Given the description of an element on the screen output the (x, y) to click on. 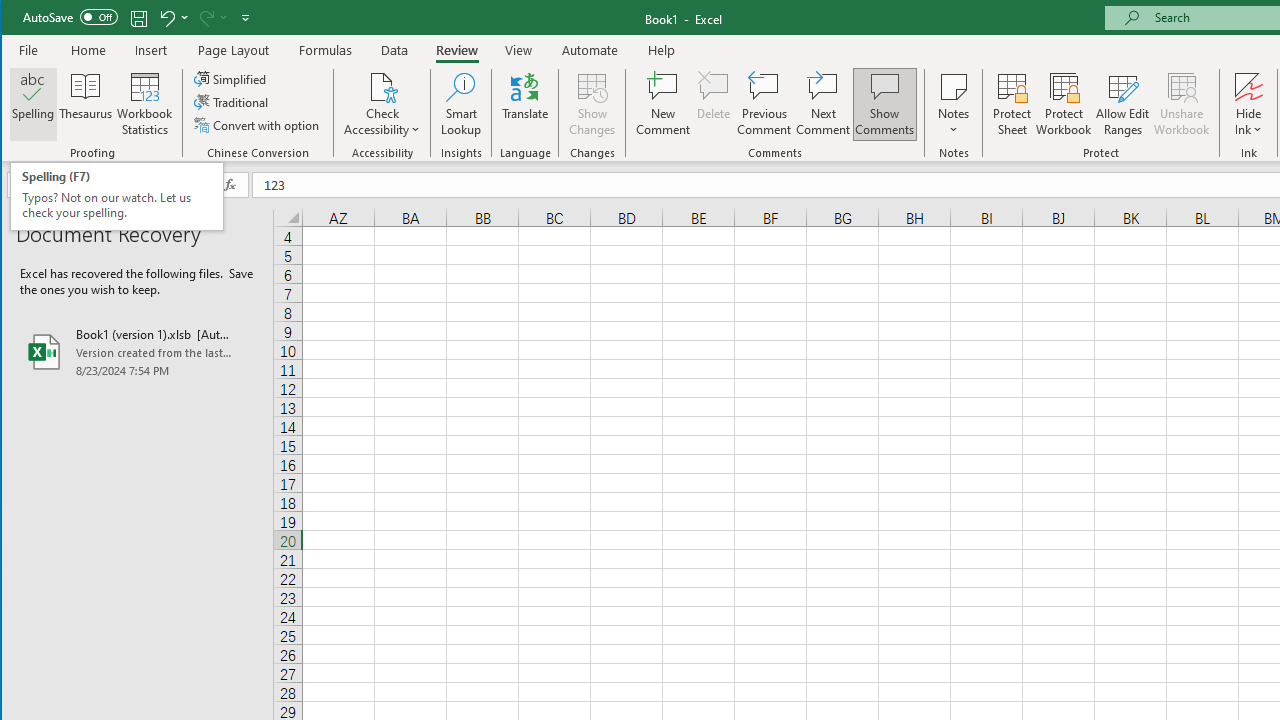
Simplified (231, 78)
Spelling... (33, 104)
Previous Comment (763, 104)
Unshare Workbook (1182, 104)
Protect Workbook... (1064, 104)
Hide Ink (1248, 104)
Show Comments (884, 104)
Check Accessibility (381, 104)
